Given the description of an element on the screen output the (x, y) to click on. 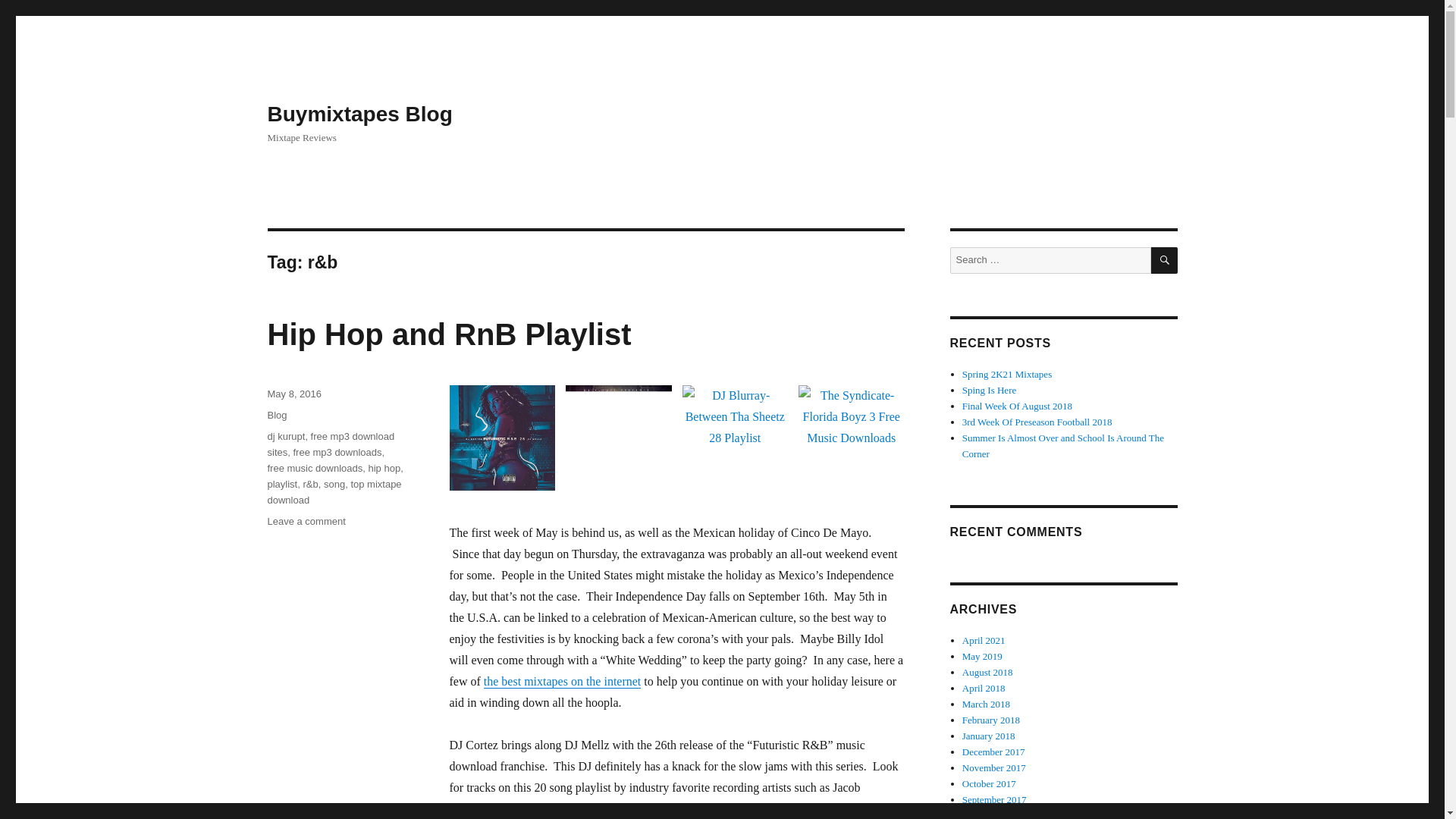
the best mixtapes on the internet (562, 680)
May 8, 2016 (293, 393)
Buymixtapes Blog (358, 114)
dj kurupt (305, 521)
Hip Hop and RnB Playlist (285, 436)
free music downloads (448, 334)
free mp3 downloads (314, 468)
top mixtape download (336, 451)
hip hop (333, 492)
